Given the description of an element on the screen output the (x, y) to click on. 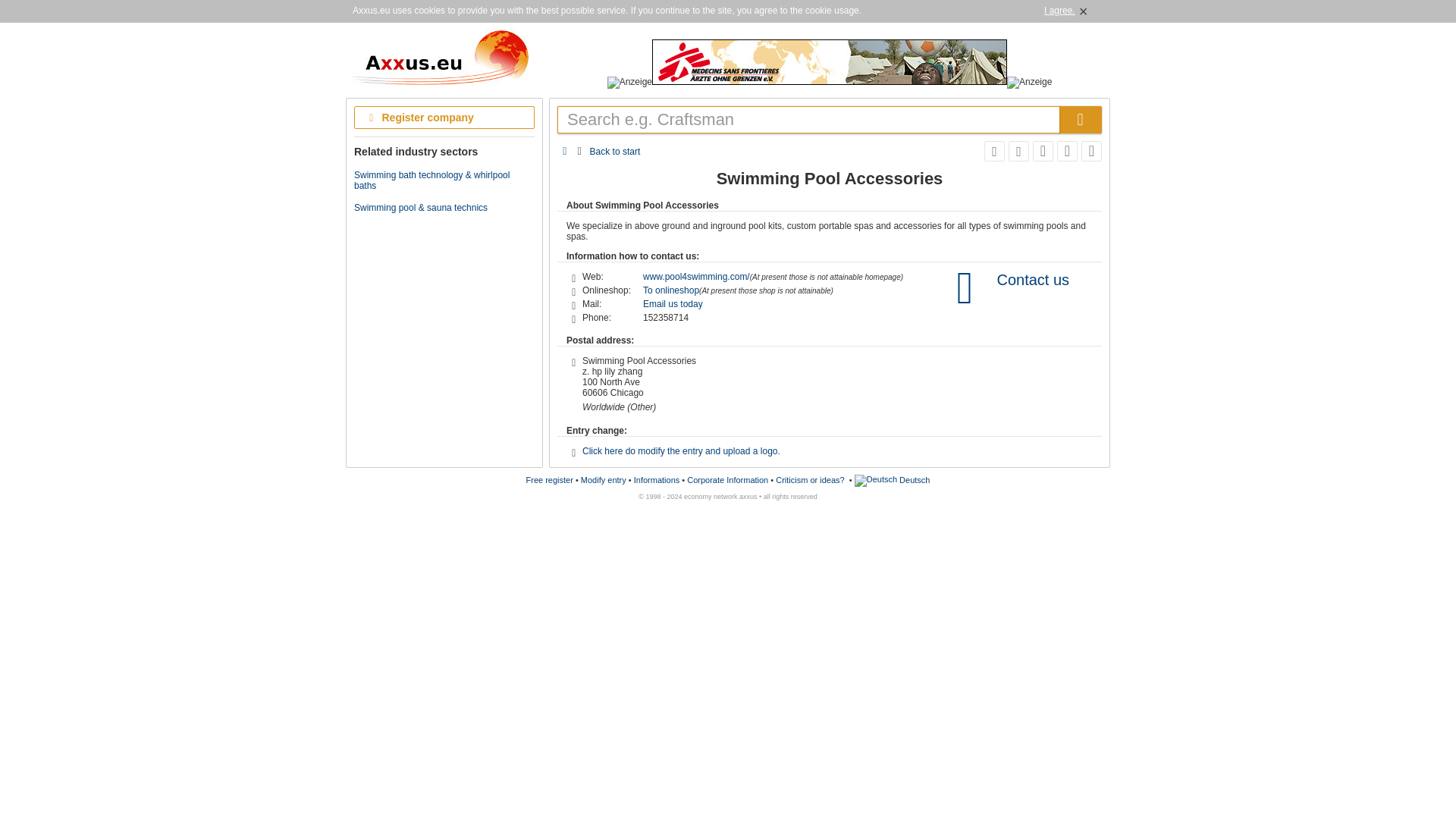
Back to start (614, 150)
